Given the description of an element on the screen output the (x, y) to click on. 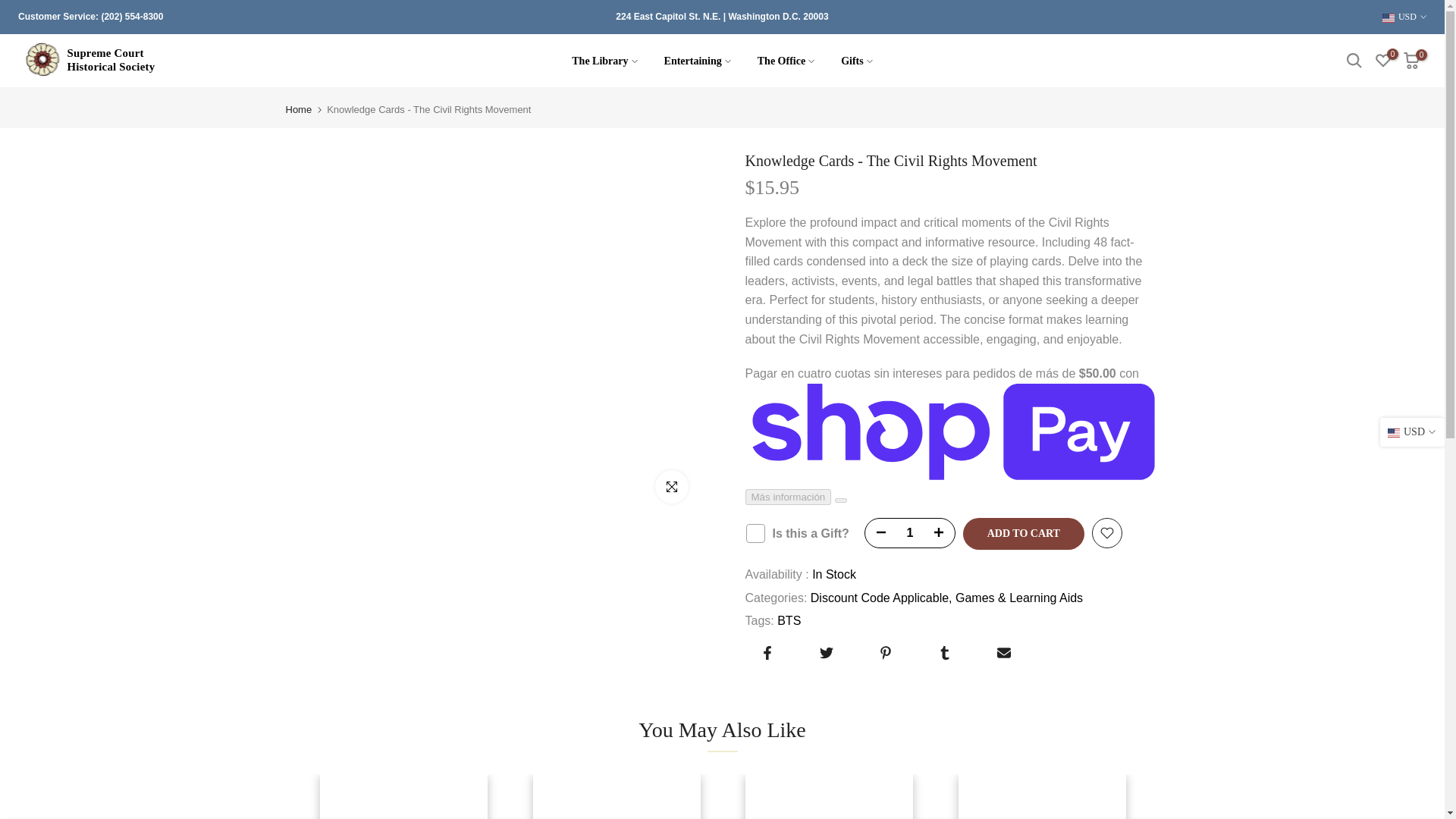
The Library (604, 61)
Share on Twitter (825, 653)
Share on Facebook (766, 653)
USD (1403, 16)
Share on Email (1002, 653)
Share on Pinterest (884, 653)
The Office (785, 61)
1 (909, 532)
Share on Tumblr (943, 653)
Entertaining (697, 61)
Skip to content (10, 7)
